Given the description of an element on the screen output the (x, y) to click on. 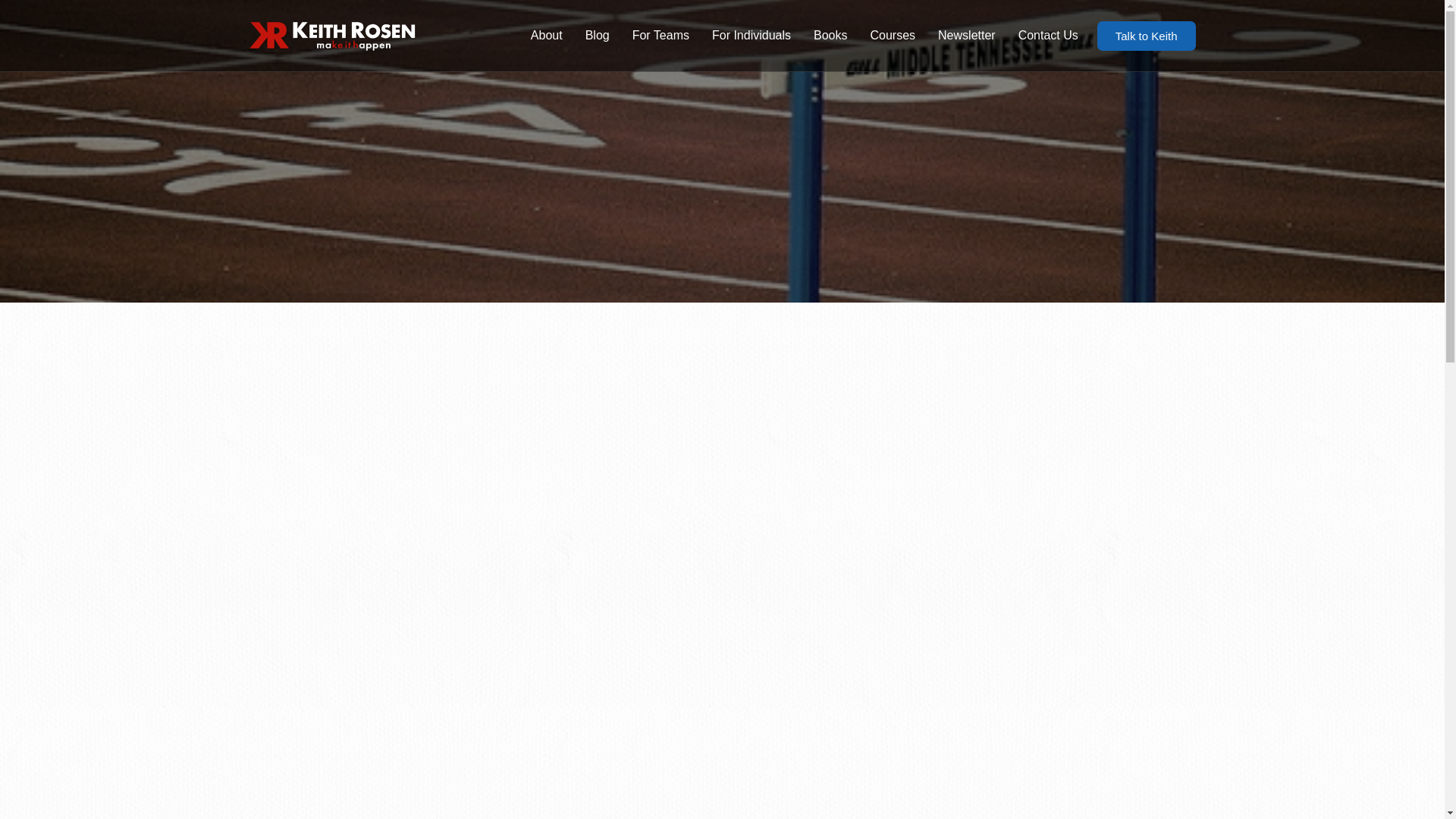
For Teams (660, 35)
Courses (892, 35)
Blog (597, 35)
Talk to Keith (1146, 35)
Books (830, 35)
Contact Us (1048, 35)
Newsletter (966, 35)
For Individuals (751, 35)
About (546, 35)
